Given the description of an element on the screen output the (x, y) to click on. 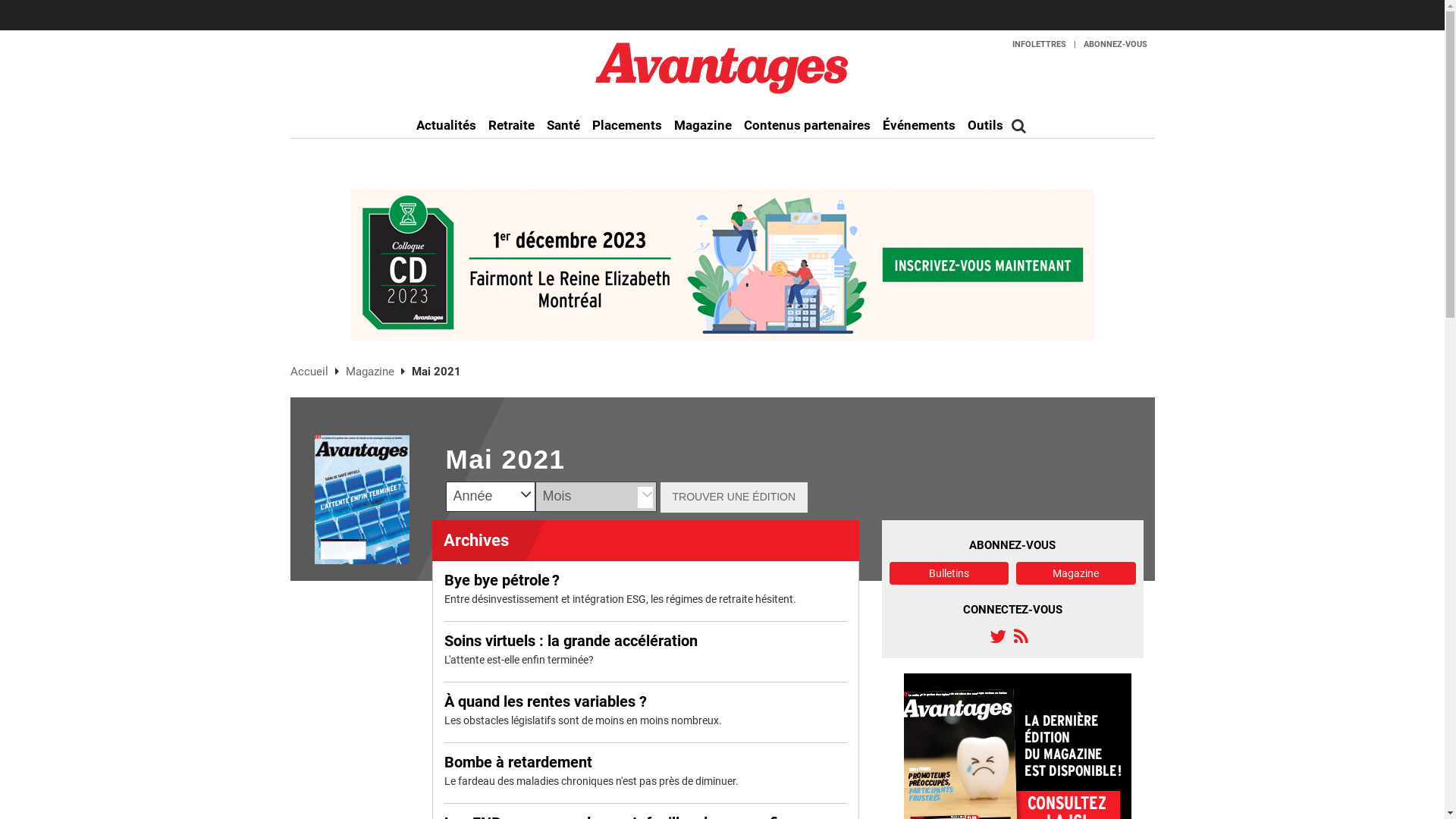
Accueil Element type: text (309, 371)
Twitter Element type: hover (996, 635)
Contenus partenaires Element type: text (806, 125)
Placements Element type: text (626, 125)
Fils RSS Element type: hover (1020, 635)
3rd party ad content Element type: hover (721, 264)
INFOLETTRES Element type: text (1039, 44)
Retraite Element type: text (511, 125)
ABONNEZ-VOUS Element type: text (1114, 44)
Magazine Element type: text (1075, 572)
Rechercher> Element type: text (1018, 126)
Magazine Element type: text (371, 371)
Outils Element type: text (985, 125)
Bulletins Element type: text (948, 572)
Magazine Element type: text (702, 125)
